Given the description of an element on the screen output the (x, y) to click on. 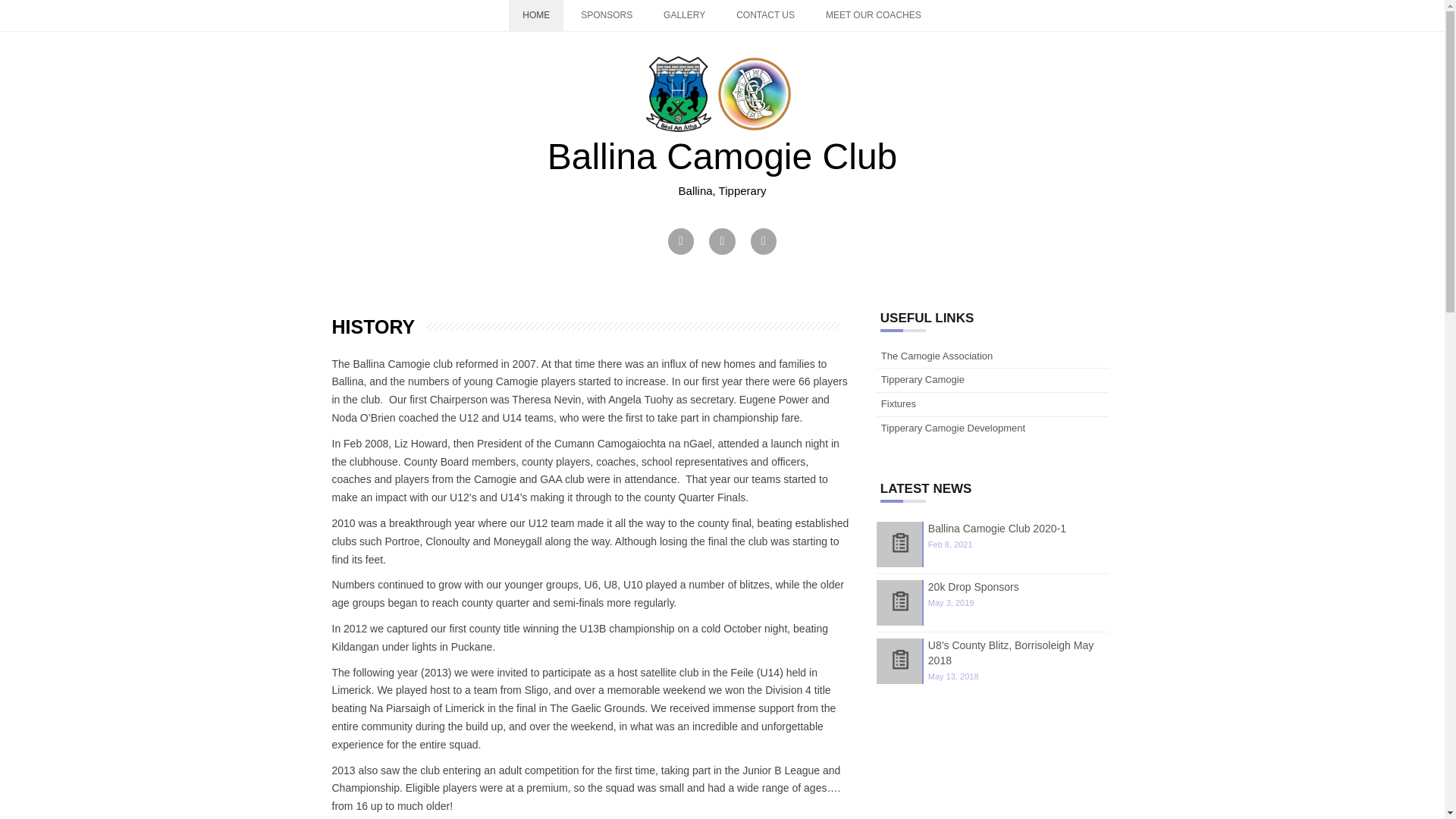
20k Drop Sponsors (973, 586)
Tipperary Camogie Development (952, 428)
Fixtures (897, 403)
The Camogie Association (936, 355)
GALLERY (684, 15)
Ballina Camogie Club 2020-1 (996, 528)
CONTACT US (765, 15)
HOME (535, 15)
MEET OUR COACHES (873, 15)
SPONSORS (606, 15)
